Given the description of an element on the screen output the (x, y) to click on. 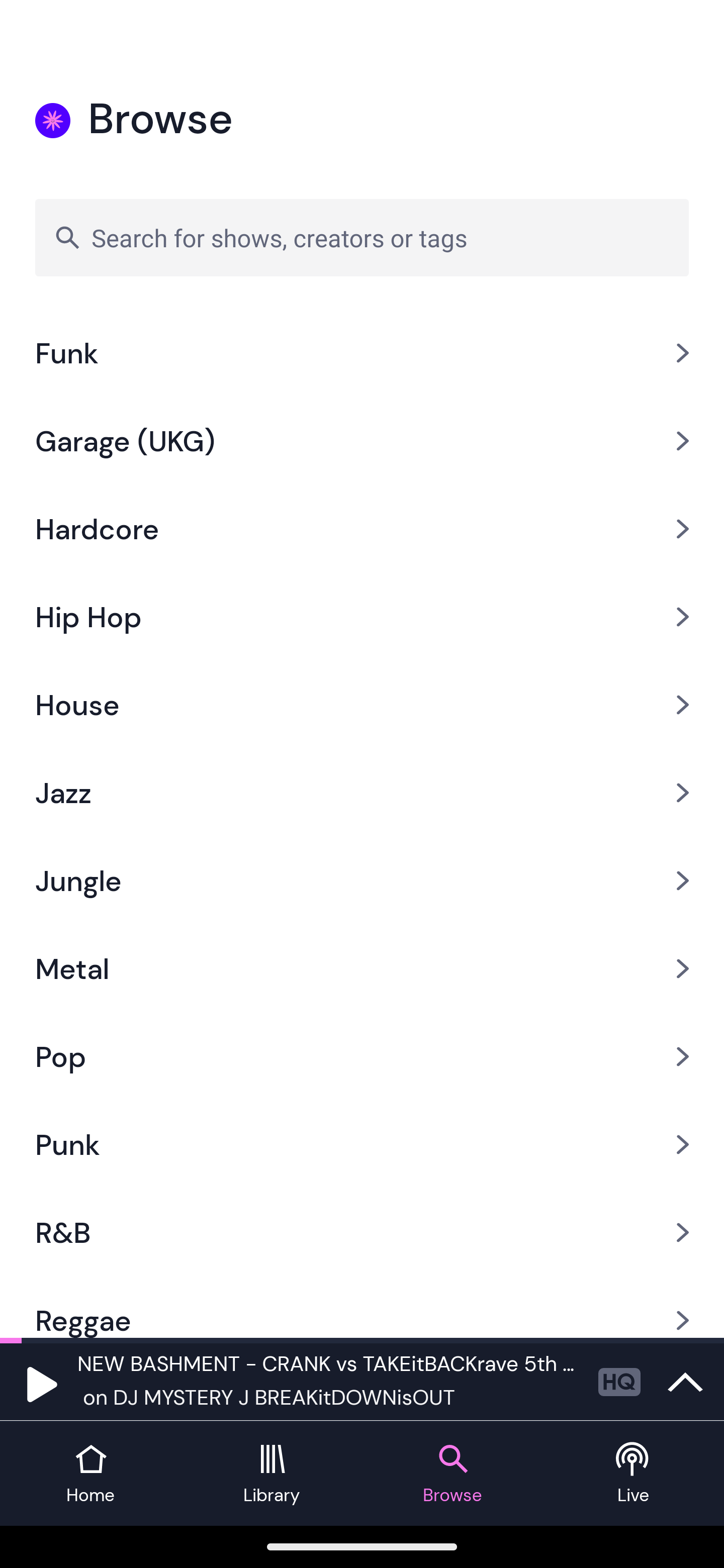
Search for shows, creators or tags (361, 237)
Funk (361, 352)
Garage (UKG) (361, 440)
Hardcore (361, 528)
Hip Hop (361, 616)
House (361, 704)
Jazz (361, 793)
Jungle (361, 881)
Metal (361, 968)
Pop (361, 1056)
Punk (361, 1144)
R&B (361, 1232)
Reggae (361, 1306)
Home tab Home (90, 1473)
Library tab Library (271, 1473)
Browse tab Browse (452, 1473)
Live tab Live (633, 1473)
